Given the description of an element on the screen output the (x, y) to click on. 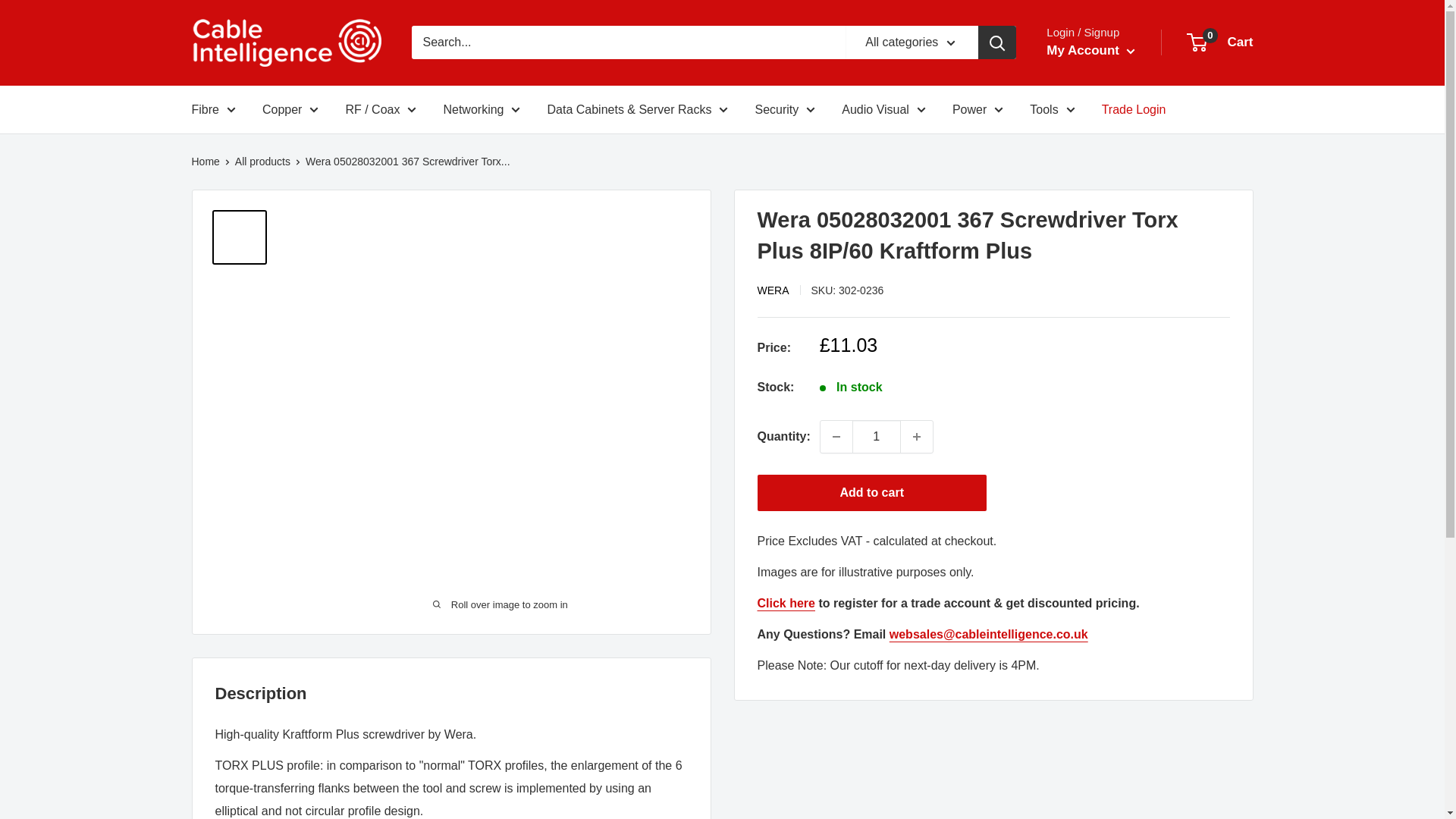
1 (876, 436)
Increase quantity by 1 (917, 436)
Decrease quantity by 1 (836, 436)
